Given the description of an element on the screen output the (x, y) to click on. 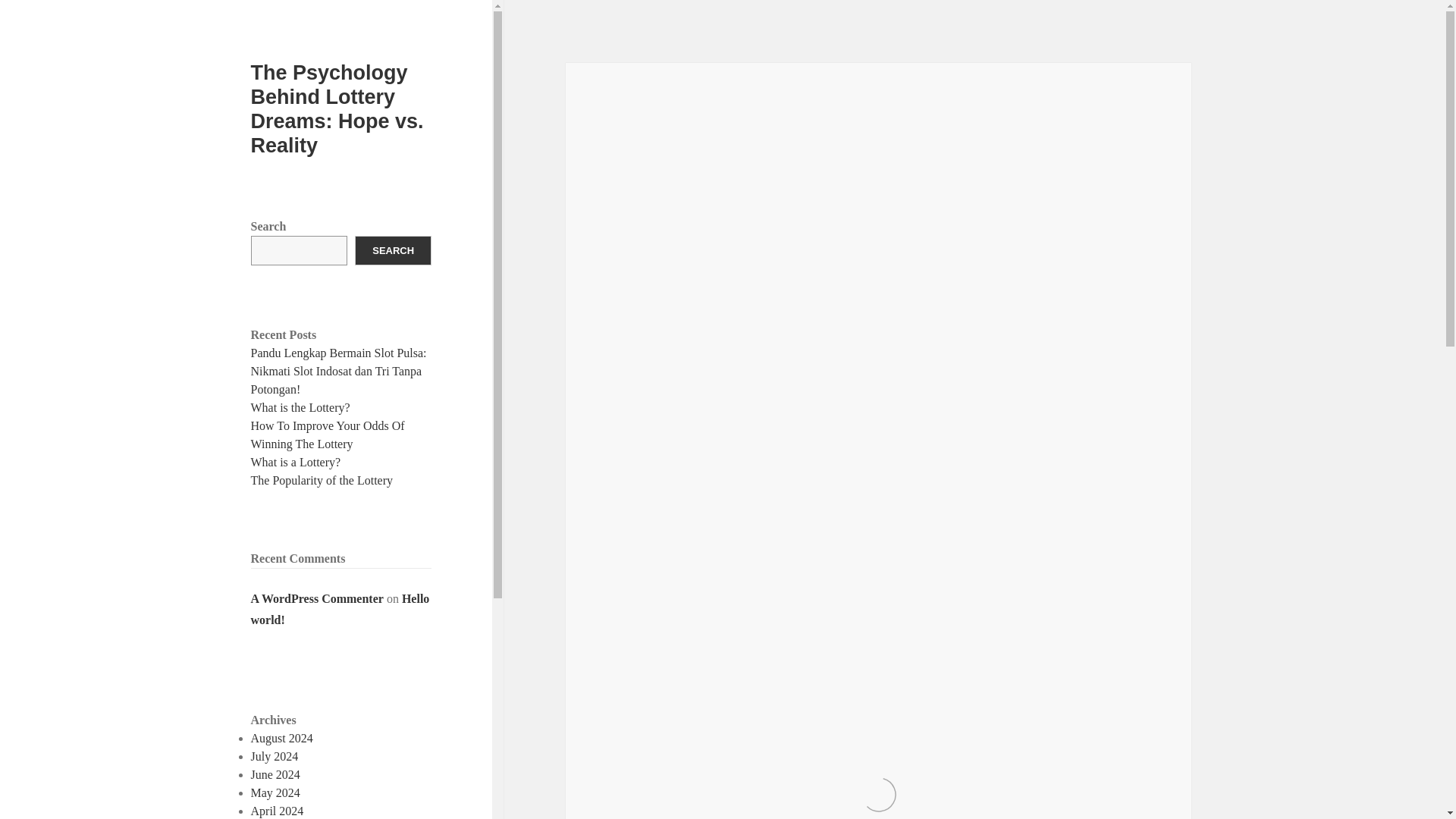
What is a Lottery? (295, 461)
June 2024 (274, 774)
July 2024 (274, 756)
A WordPress Commenter (317, 598)
May 2024 (274, 792)
Hello world! (339, 609)
August 2024 (281, 738)
The Psychology Behind Lottery Dreams: Hope vs. Reality (336, 109)
SEARCH (392, 250)
April 2024 (277, 810)
